Given the description of an element on the screen output the (x, y) to click on. 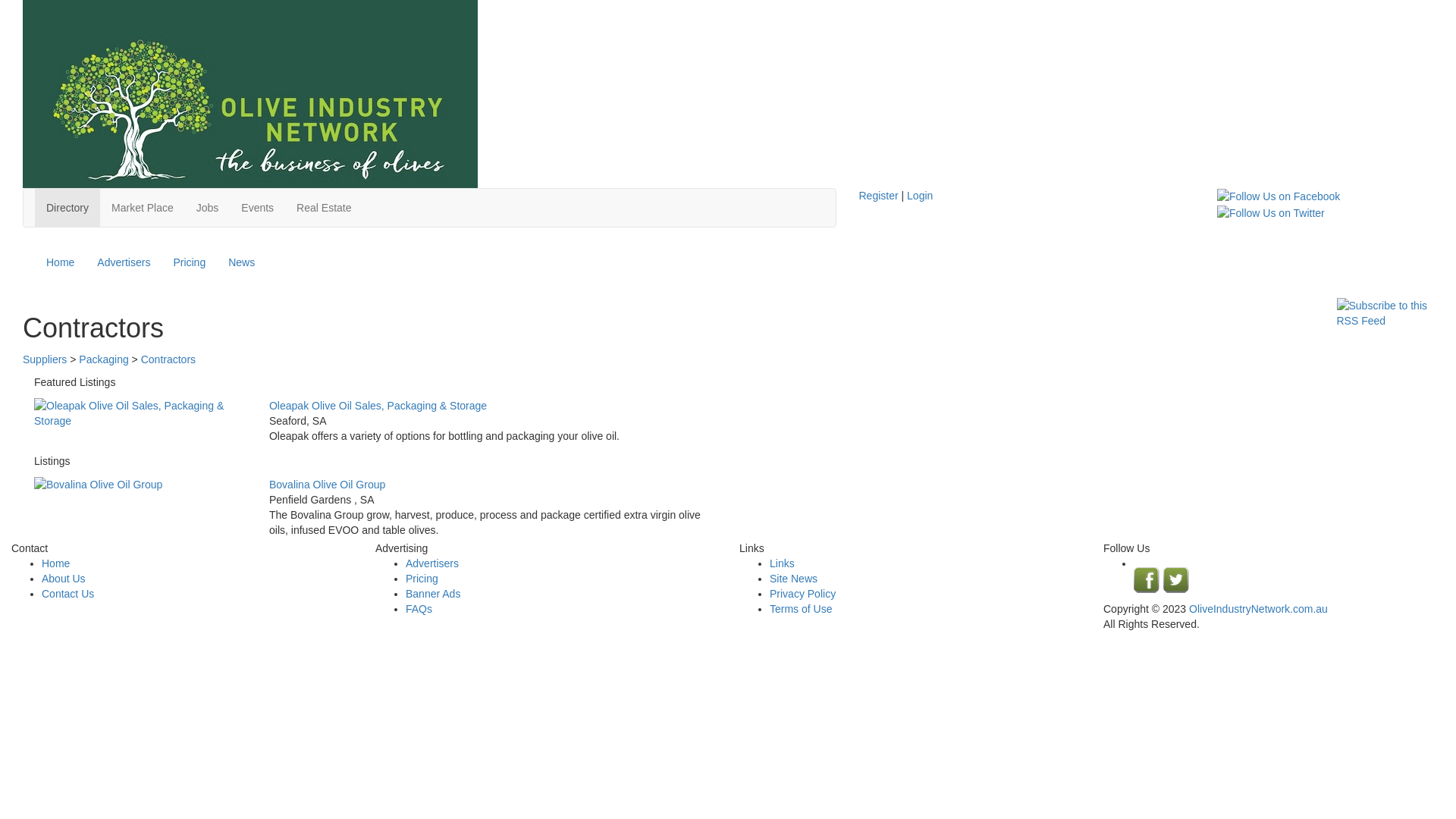
Advertisers Element type: text (431, 563)
Bovalina Olive Oil Group Element type: text (327, 484)
Olive Industry Directory Element type: hover (249, 94)
Terms of Use Element type: text (800, 608)
Advertisers Element type: text (123, 262)
Follow Us on Twitter Element type: hover (1176, 580)
FAQs Element type: text (418, 608)
Packaging Element type: text (103, 359)
Links Element type: text (781, 563)
Login Element type: text (919, 195)
Bovalina Olive Oil Group Element type: hover (140, 484)
Real Estate Element type: text (323, 207)
Pricing Element type: text (188, 262)
Contact Us Element type: text (67, 593)
Oleapak Olive Oil Sales, Packaging & Storage Element type: hover (140, 413)
Follow Us on Twitter Element type: hover (1270, 211)
Directory Element type: text (67, 207)
Suppliers Element type: text (45, 359)
Follow Us on Facebook Element type: hover (1146, 580)
Follow Us on Facebook Element type: hover (1278, 195)
Banner Ads Element type: text (432, 593)
Follow Us on Facebook Element type: hover (1146, 579)
About Us Element type: text (63, 578)
Follow Us on Twitter Element type: hover (1270, 212)
Follow Us on Twitter Element type: hover (1176, 579)
Contractors Element type: text (168, 359)
Subscribe to this RSS Feed Element type: hover (1384, 313)
Home Element type: text (59, 262)
Follow Us on Facebook Element type: hover (1278, 195)
OliveIndustryNetwork.com.au Element type: text (1258, 608)
Jobs Element type: text (207, 207)
Register Element type: text (877, 195)
Privacy Policy Element type: text (802, 593)
News Element type: text (241, 262)
Market Place Element type: text (142, 207)
Oleapak Olive Oil Sales, Packaging & Storage Element type: text (377, 405)
Pricing Element type: text (421, 578)
Site News Element type: text (793, 578)
Events Element type: text (257, 207)
Home Element type: text (55, 563)
